Given the description of an element on the screen output the (x, y) to click on. 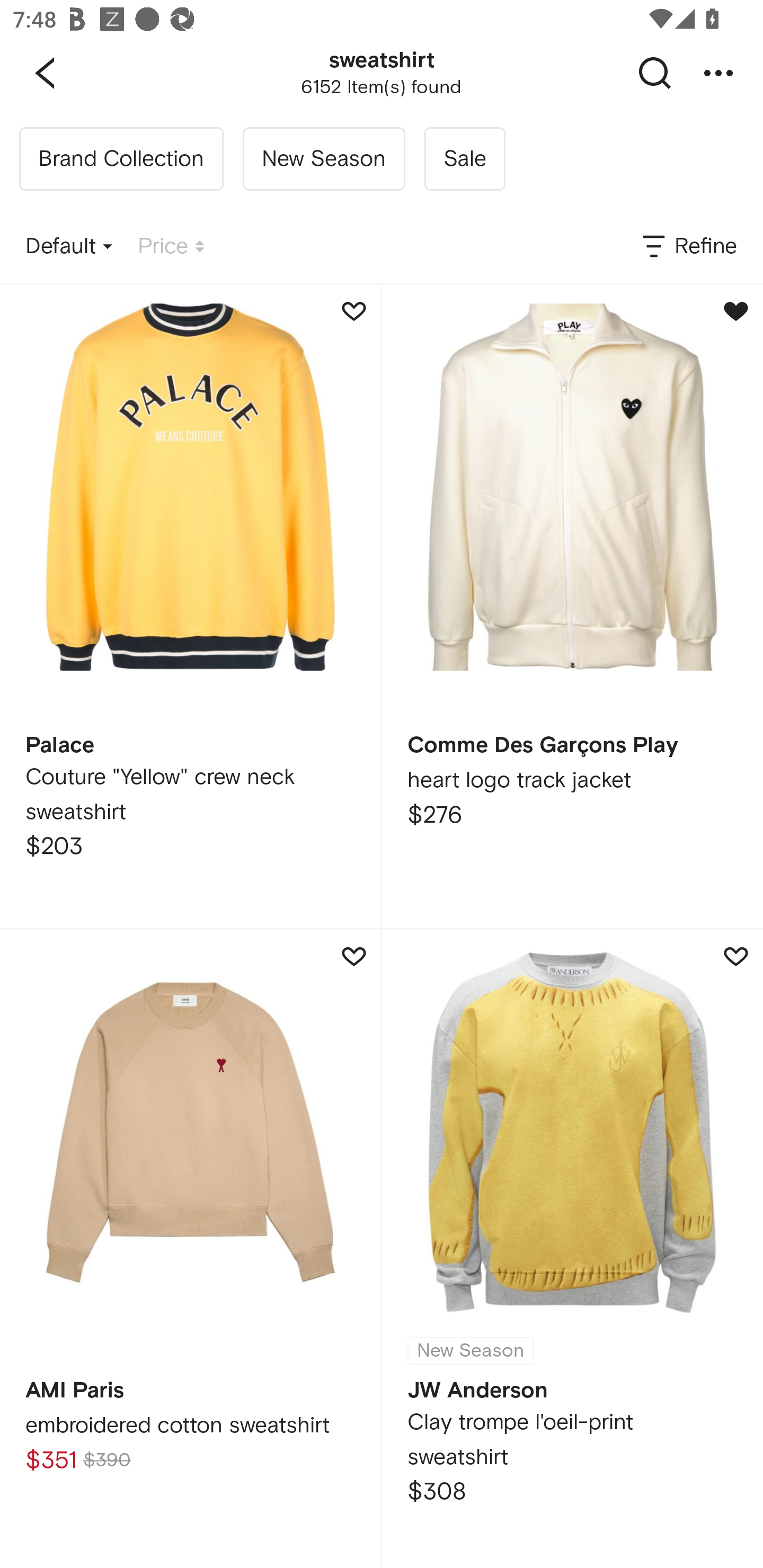
Brand Collection (121, 158)
New Season (323, 158)
Sale (464, 158)
Default (68, 246)
Price (171, 246)
Refine (688, 246)
Palace Couture "Yellow" crew neck sweatshirt $203 (190, 605)
AMI Paris embroidered cotton sweatshirt  $351 $390 (190, 1248)
